Given the description of an element on the screen output the (x, y) to click on. 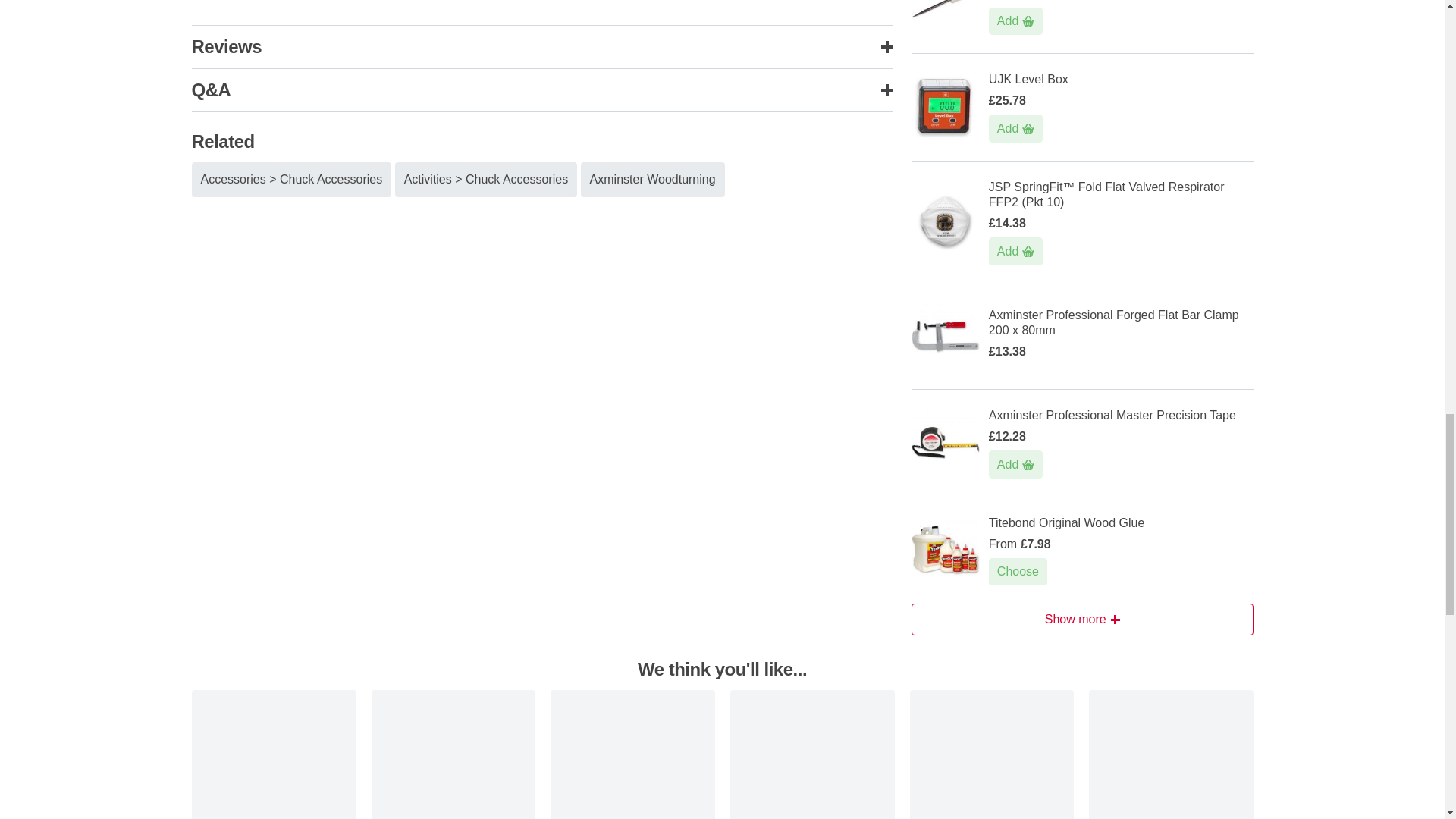
Basket (1027, 21)
Basket (1027, 464)
Basket (1027, 128)
Basket (1027, 251)
